Given the description of an element on the screen output the (x, y) to click on. 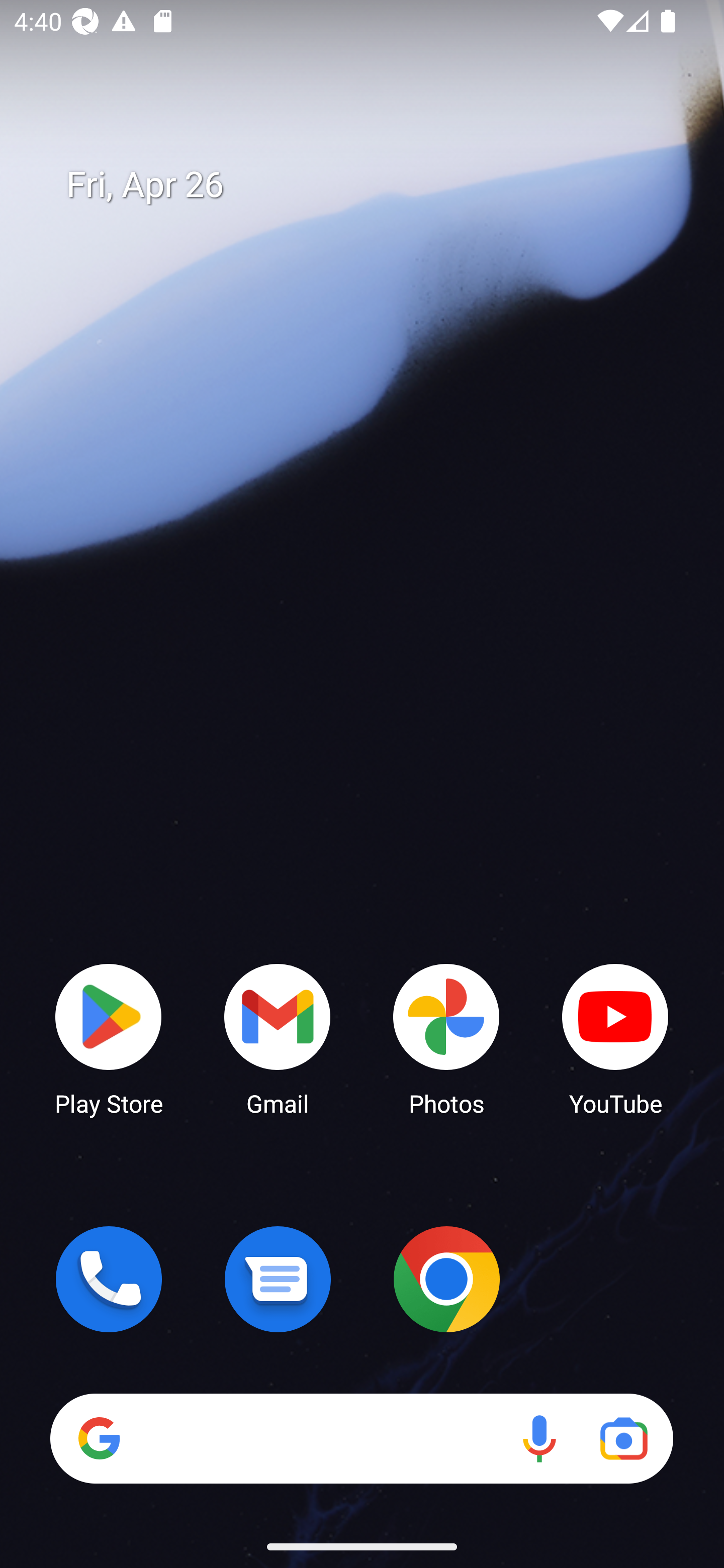
Fri, Apr 26 (375, 184)
Play Store (108, 1038)
Gmail (277, 1038)
Photos (445, 1038)
YouTube (615, 1038)
Phone (108, 1279)
Messages (277, 1279)
Chrome (446, 1279)
Search Voice search Google Lens (361, 1438)
Voice search (539, 1438)
Google Lens (623, 1438)
